Given the description of an element on the screen output the (x, y) to click on. 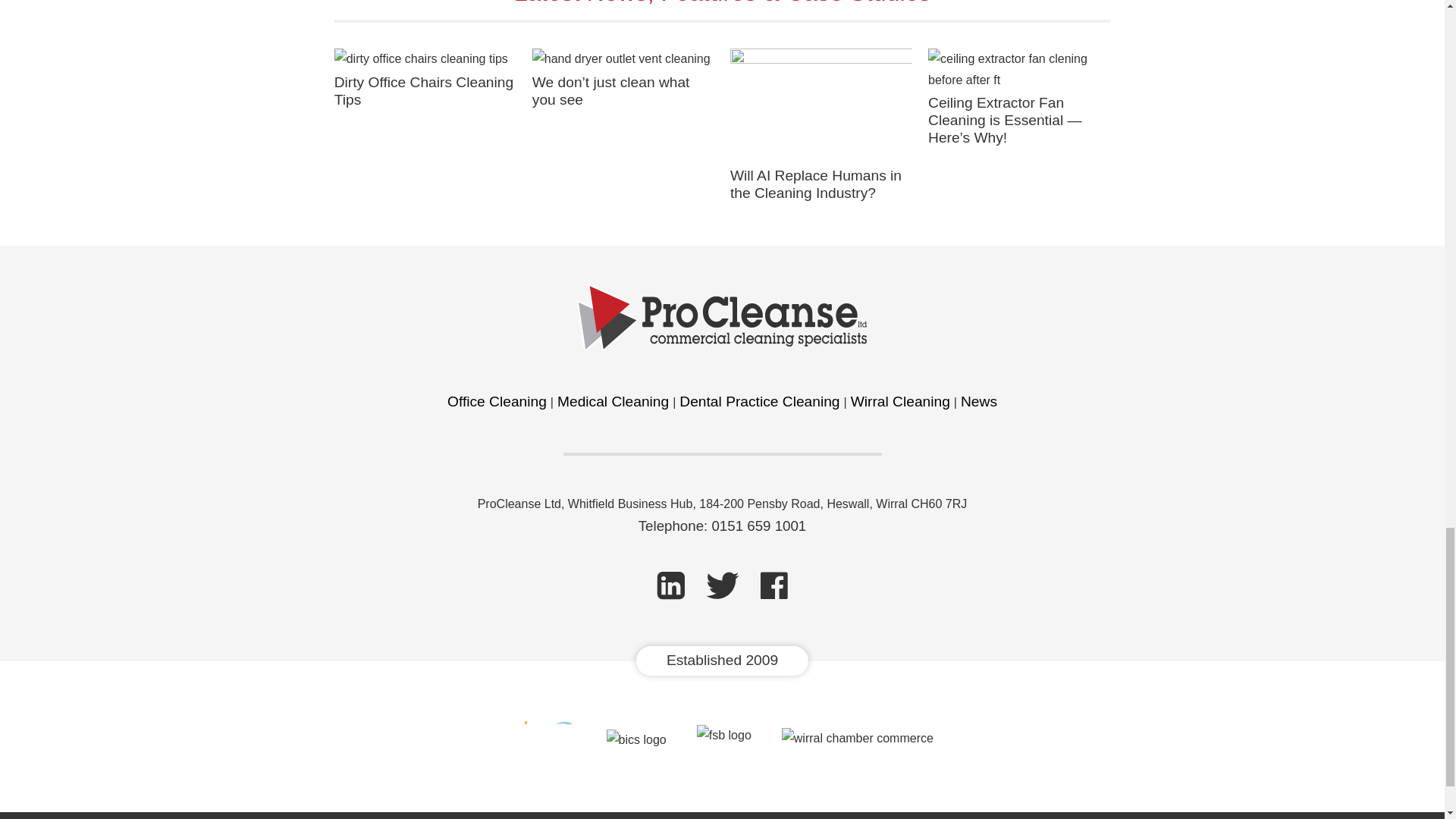
Dirty Office Chairs Cleaning Tips (423, 90)
Will AI Replace Humans in the Cleaning Industry? (815, 183)
Office Cleaning Wirral, Chester and North West (497, 401)
